Given the description of an element on the screen output the (x, y) to click on. 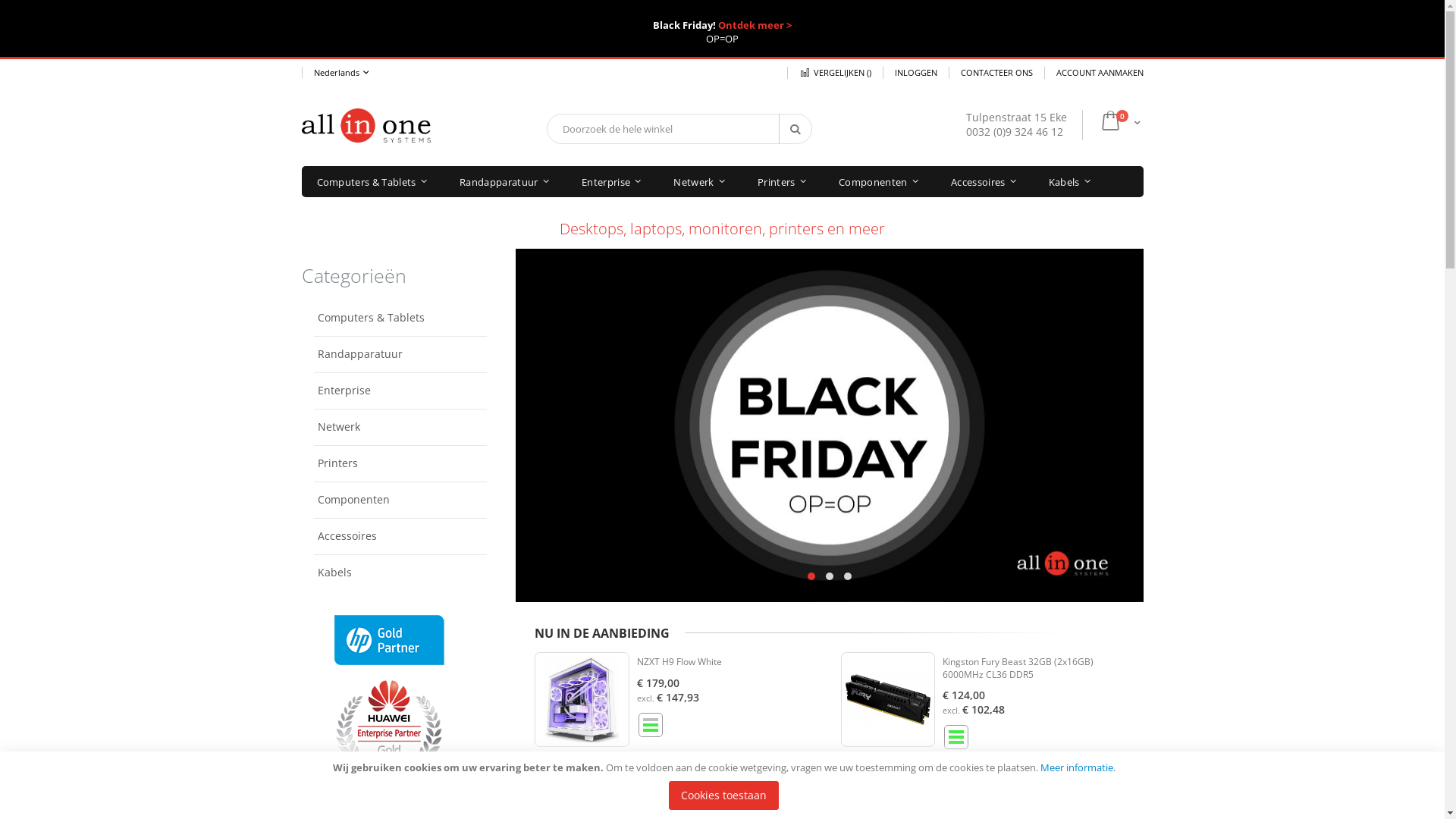
Netwerk Element type: text (400, 426)
Ontdek meer > Element type: text (754, 24)
NZXT H9 Flow White Element type: text (679, 661)
Meer informatie Element type: text (1076, 767)
Cookies toestaan Element type: text (723, 795)
  Element type: text (829, 406)
INLOGGEN Element type: text (915, 72)
CONTACTEER ONS Element type: text (995, 72)
Logitech G432 Gaming Headset Leatheratte Element type: text (1009, 786)
Enterprise Element type: text (400, 389)
Kabels Element type: text (400, 571)
Kingston Fury Beast 32GB (2x16GB) 6000MHz CL36 DDR5 Element type: text (1017, 667)
VERGELIJKEN () Element type: text (834, 72)
Cart
0 Element type: text (1119, 121)
Kabels Element type: text (1069, 181)
Printers Element type: text (781, 181)
Componenten Element type: text (878, 181)
Black Friday - OP=OP Element type: hover (829, 425)
Computers & Tablets Element type: text (400, 317)
Accessoires Element type: text (400, 535)
Op voorraad Element type: hover (956, 736)
Ga naar de inhoud Element type: text (300, 65)
Lage voorraad Element type: hover (650, 724)
Accessoires Element type: text (983, 181)
Netwerk Element type: text (699, 181)
HP NVIDIA RTX A4000 16GB Element type: text (695, 779)
Printers Element type: text (400, 462)
Componenten Element type: text (400, 499)
ACCOUNT AANMAKEN Element type: text (1092, 72)
Randapparatuur Element type: text (504, 181)
Randapparatuur Element type: text (400, 353)
Enterprise Element type: text (611, 181)
Computers & Tablets Element type: text (371, 181)
